Given the description of an element on the screen output the (x, y) to click on. 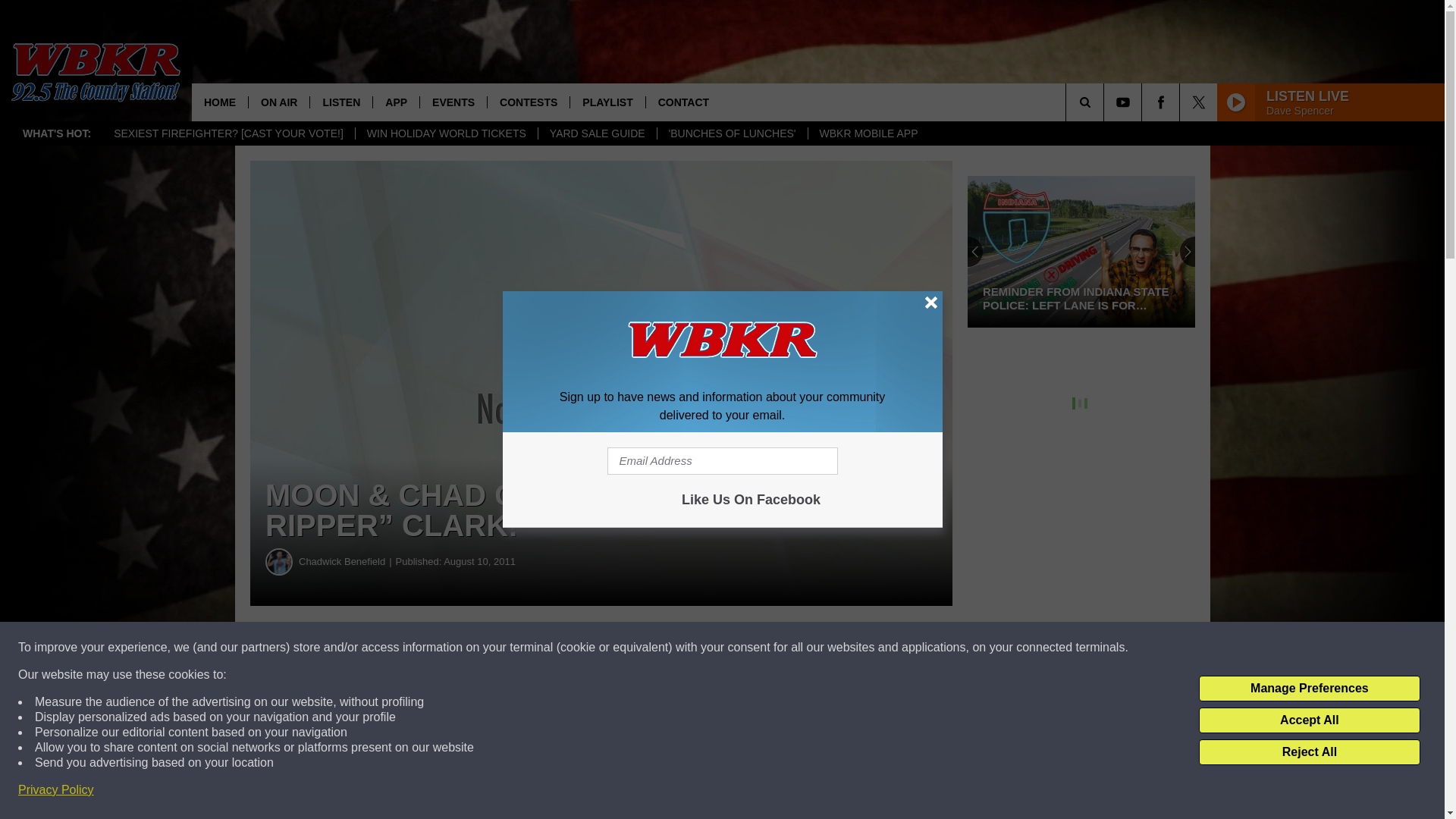
WHAT'S HOT: (56, 133)
ON AIR (277, 102)
Privacy Policy (55, 789)
Accept All (1309, 720)
SEARCH (1106, 102)
Share on Twitter (741, 647)
HOME (219, 102)
WBKR MOBILE APP (869, 133)
LISTEN (340, 102)
SEARCH (1106, 102)
Share on Facebook (460, 647)
WIN HOLIDAY WORLD TICKETS (446, 133)
Manage Preferences (1309, 688)
Reject All (1309, 751)
CONTACT (682, 102)
